Given the description of an element on the screen output the (x, y) to click on. 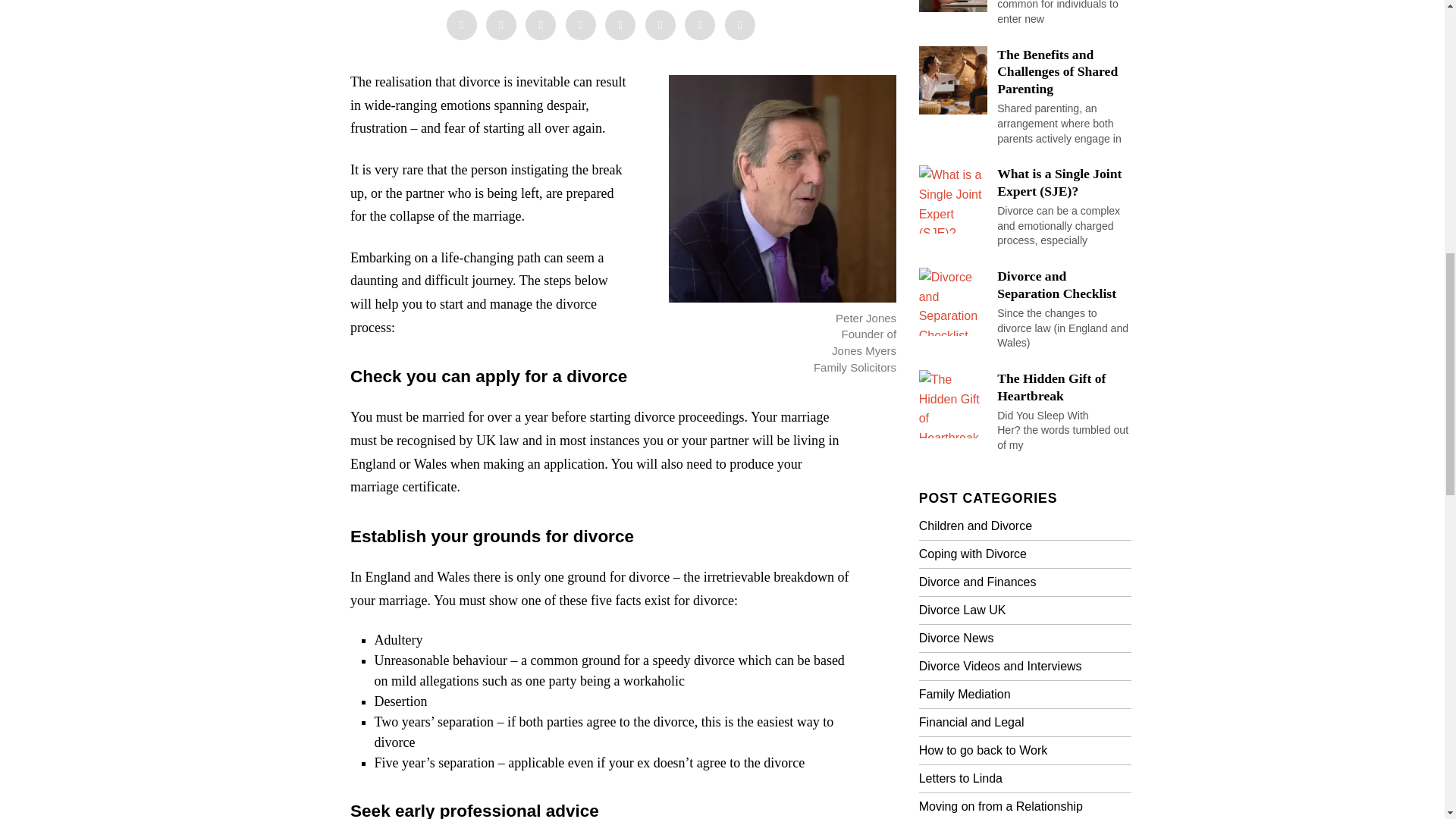
Twitter (540, 24)
Pinterest (580, 24)
Messenger (501, 24)
Facebook (460, 24)
